Given the description of an element on the screen output the (x, y) to click on. 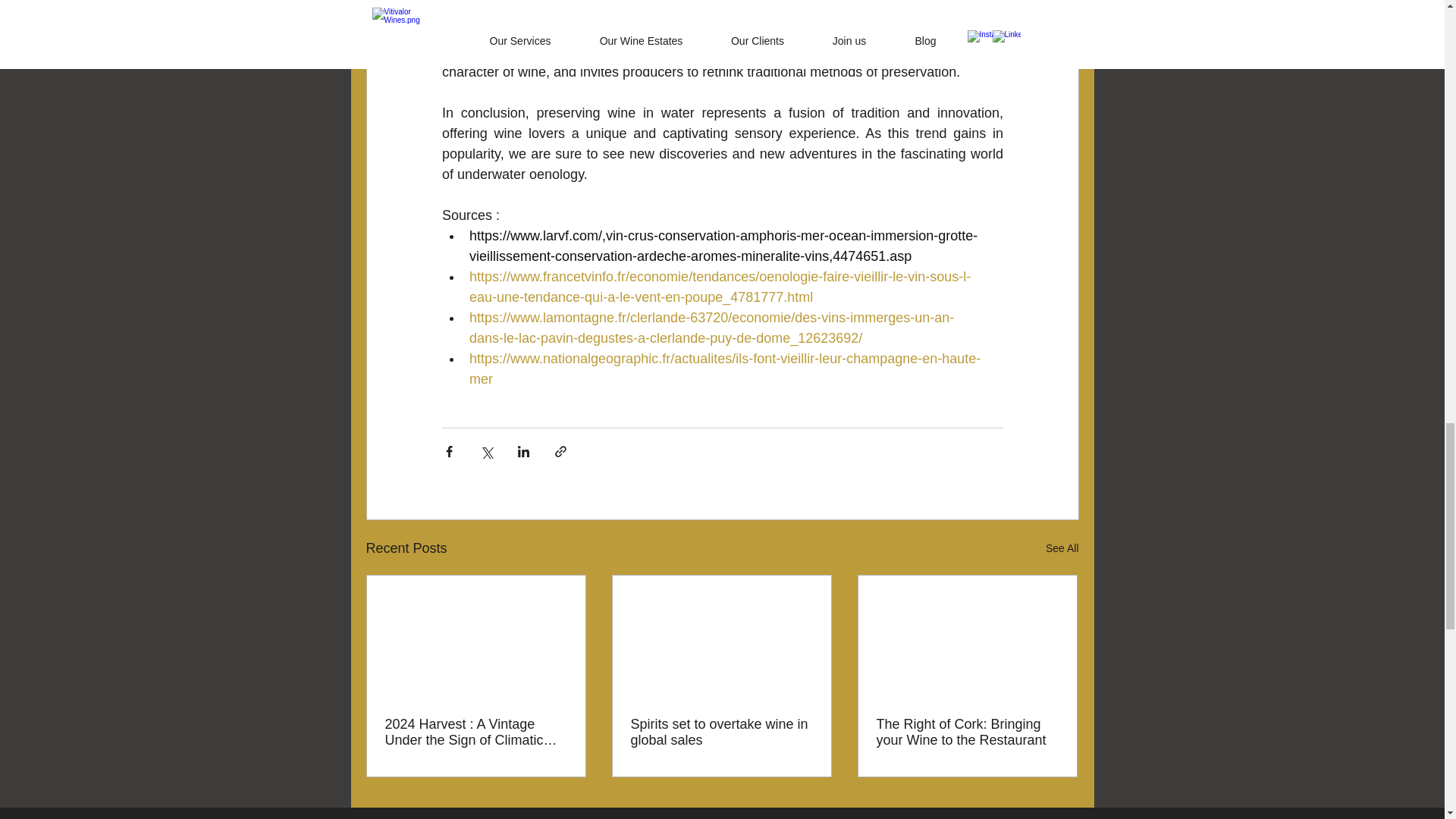
The Right of Cork: Bringing your Wine to the Restaurant (967, 732)
Spirits set to overtake wine in global sales (721, 732)
See All (1061, 548)
